Given the description of an element on the screen output the (x, y) to click on. 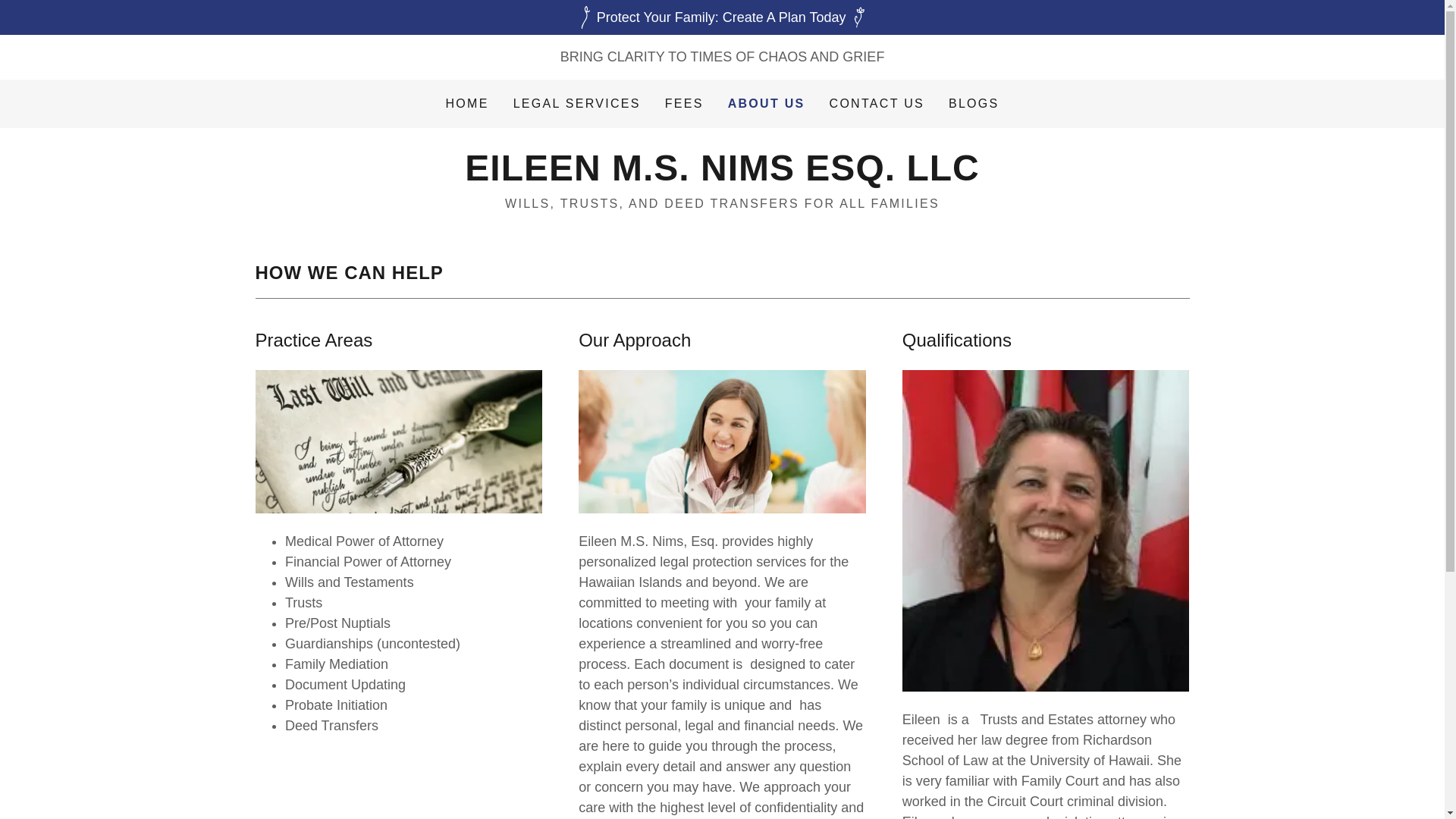
EILEEN M.S. NIMS ESQ. LLC (721, 175)
FEES (684, 103)
CONTACT US (876, 103)
HOME (467, 103)
Eileen M.S. Nims Esq. LLC (721, 175)
ABOUT US (766, 104)
LEGAL SERVICES (576, 103)
BLOGS (973, 103)
